Given the description of an element on the screen output the (x, y) to click on. 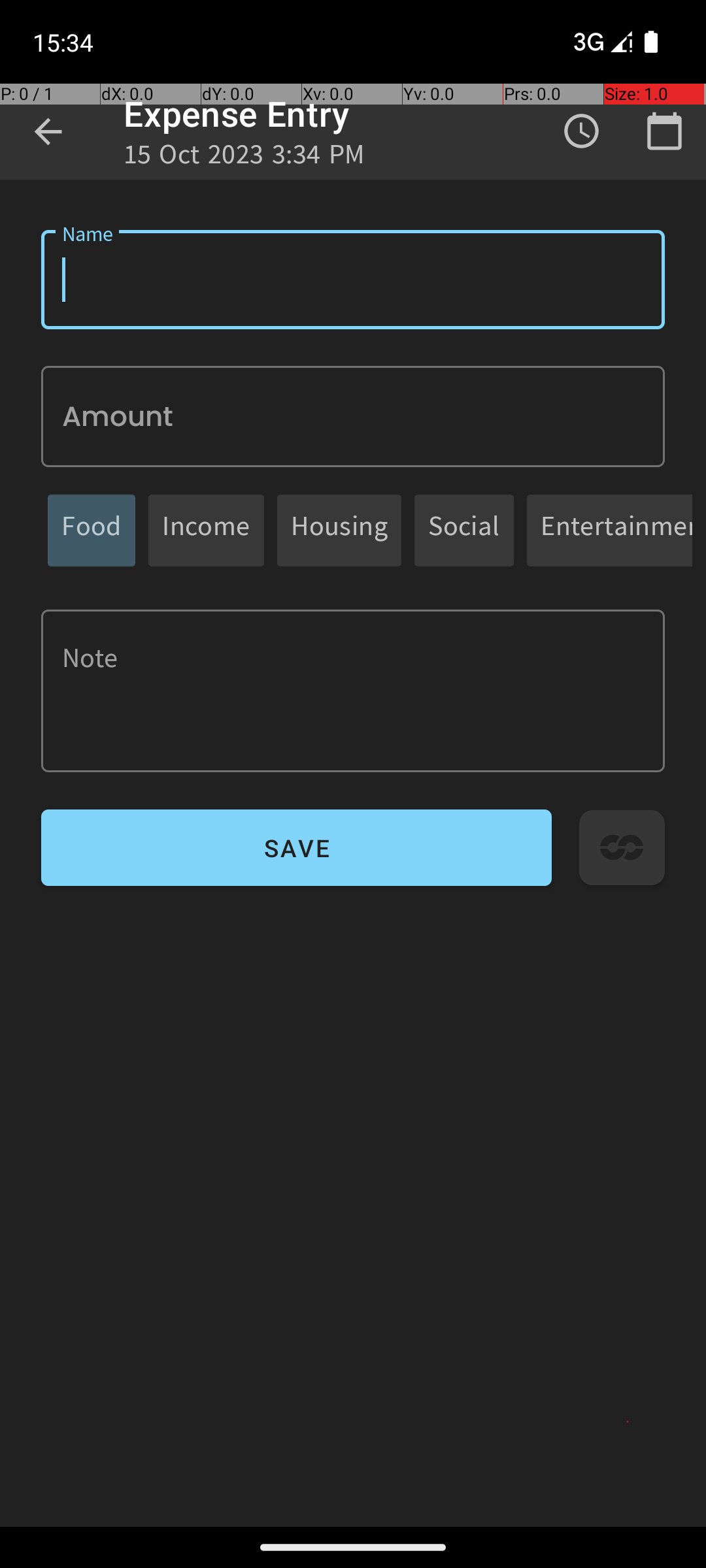
Expense Entry Element type: android.widget.TextView (236, 113)
15 Oct 2023 3:34 PM Element type: android.widget.TextView (244, 157)
Time Element type: android.widget.TextView (580, 131)
Name Element type: android.widget.EditText (352, 279)
SAVE Element type: android.widget.Button (296, 847)
Food Element type: android.widget.TextView (91, 530)
Income Element type: android.widget.TextView (206, 530)
Housing Element type: android.widget.TextView (338, 530)
Social Element type: android.widget.TextView (464, 530)
Entertainment Element type: android.widget.TextView (616, 530)
